Given the description of an element on the screen output the (x, y) to click on. 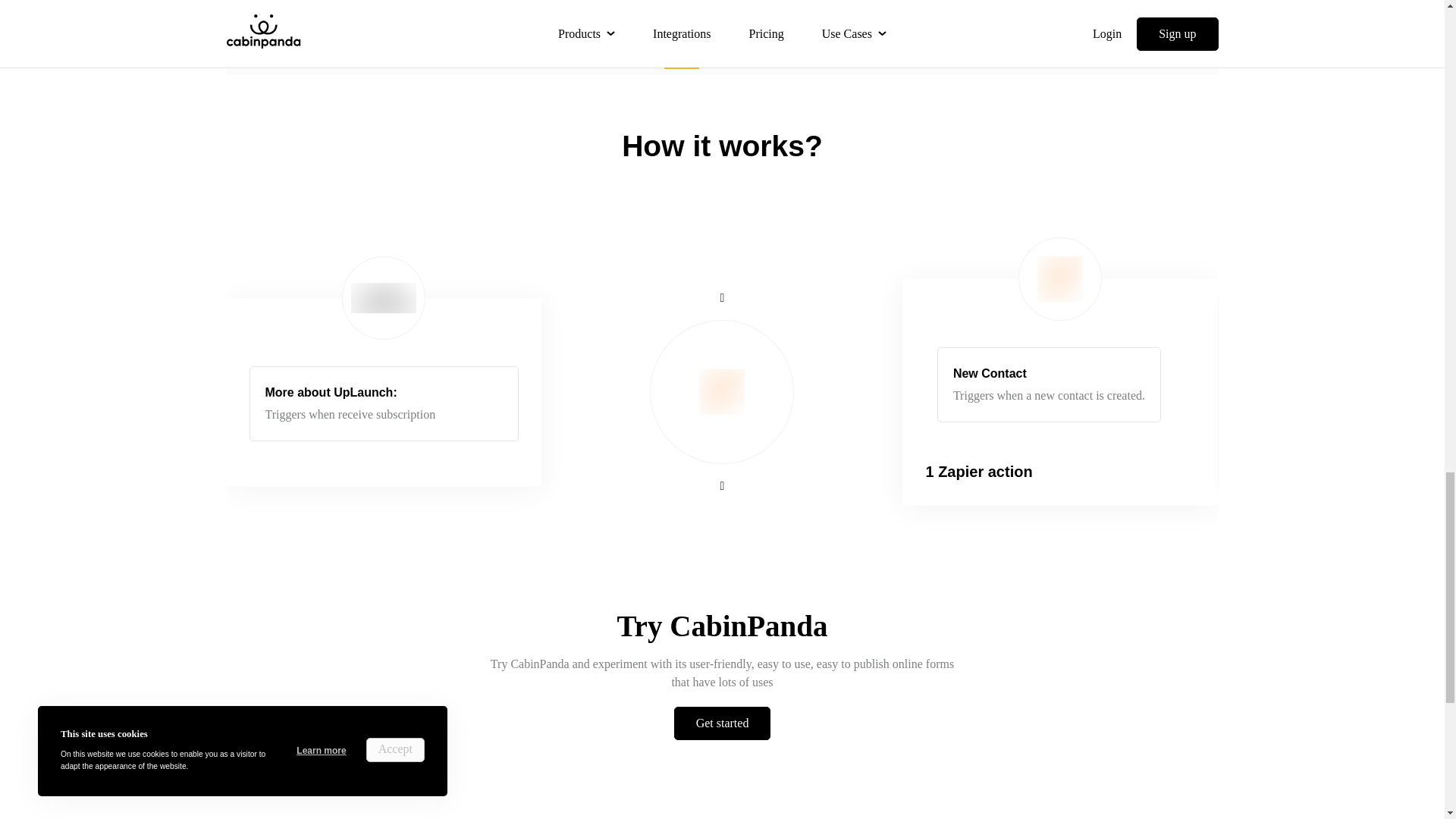
Get started (722, 723)
